Given the description of an element on the screen output the (x, y) to click on. 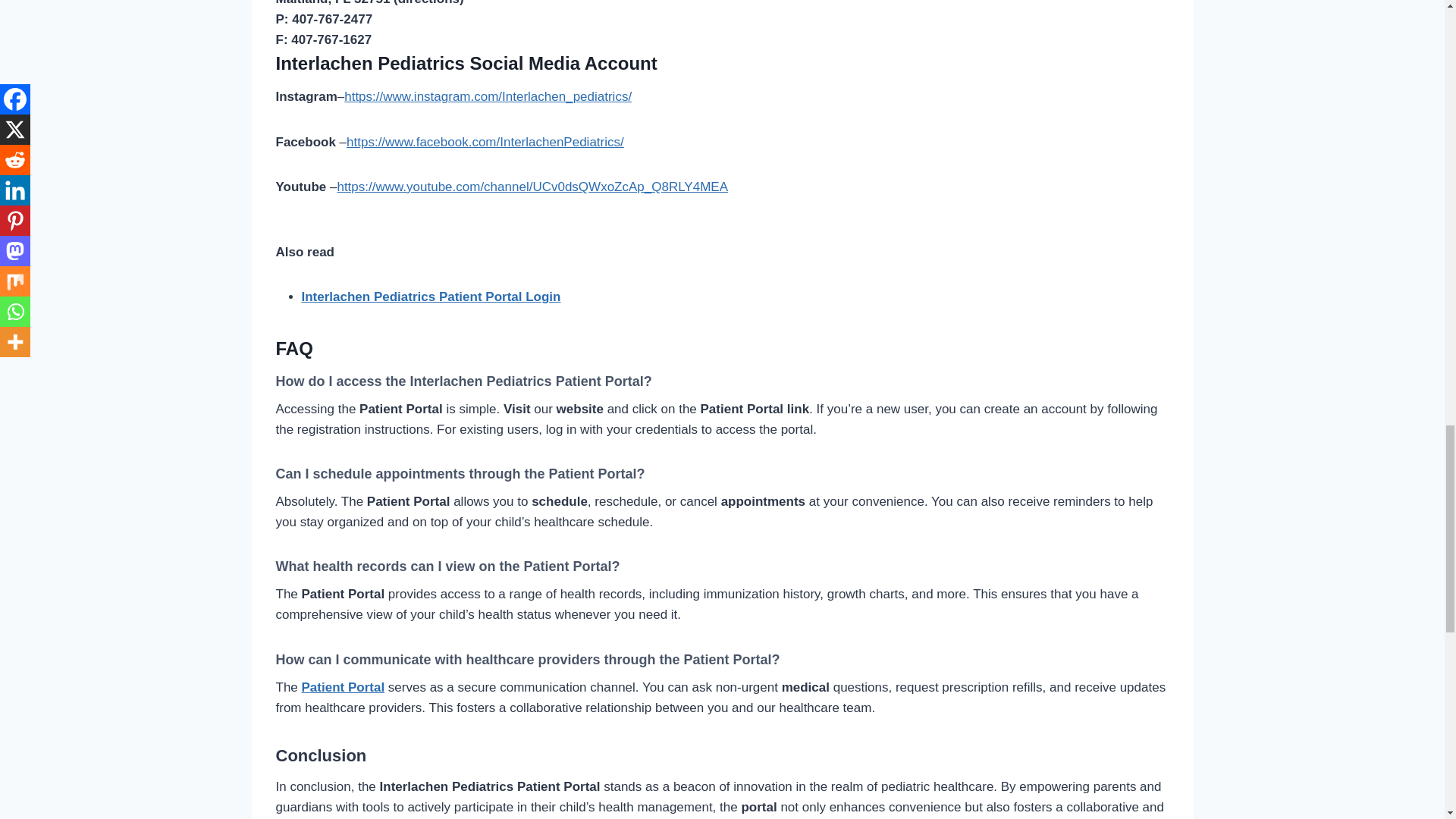
Interlachen Pediatrics Patient Portal Login (430, 296)
Patient Portal (343, 687)
